Given the description of an element on the screen output the (x, y) to click on. 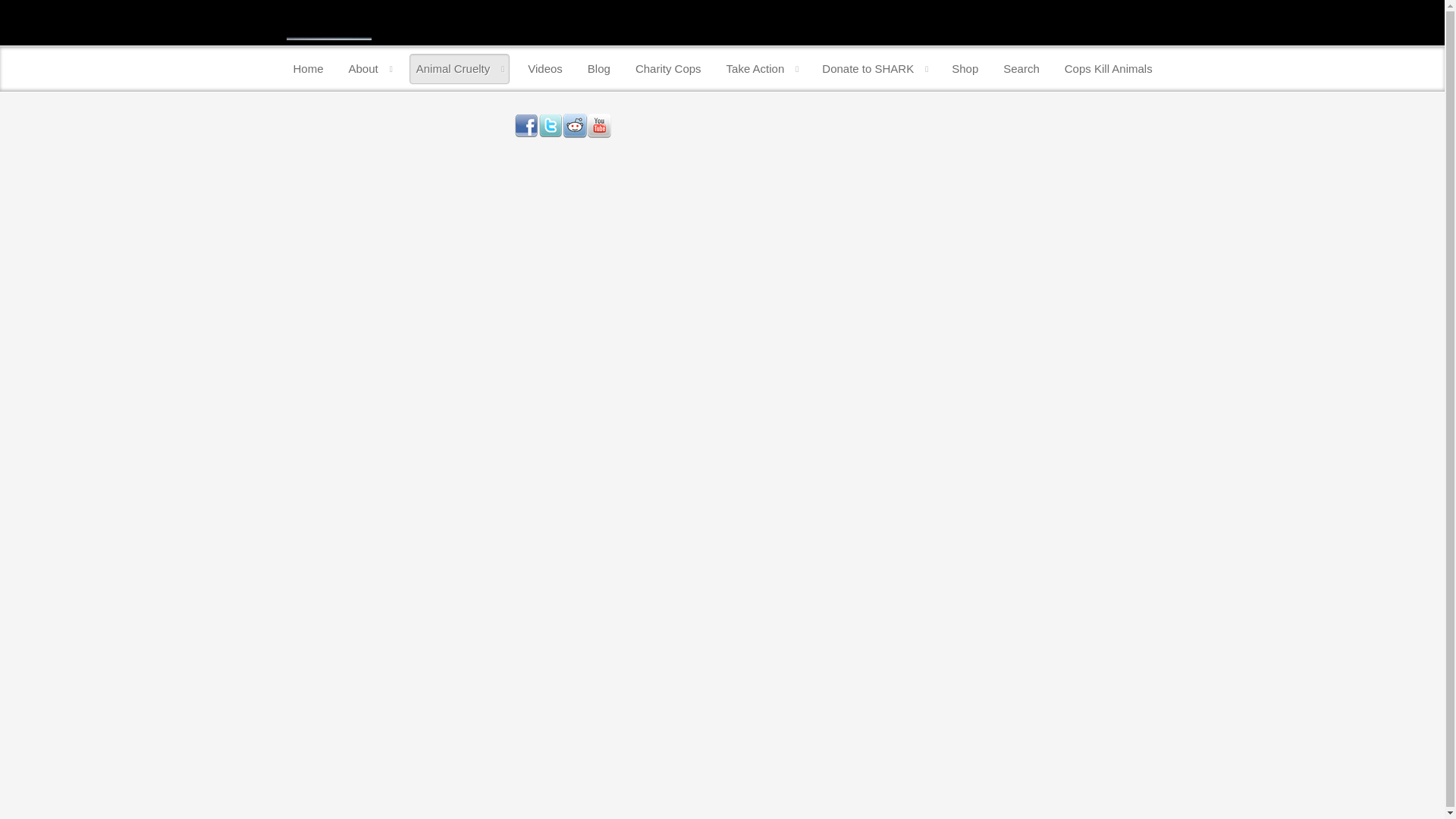
Youtube (598, 125)
Charity Cops (667, 68)
About (369, 68)
Twitter (550, 125)
Facebook (525, 125)
Take Action (761, 68)
Home (307, 68)
reddit (574, 125)
Donate to SHARK (874, 68)
Videos (545, 68)
